Given the description of an element on the screen output the (x, y) to click on. 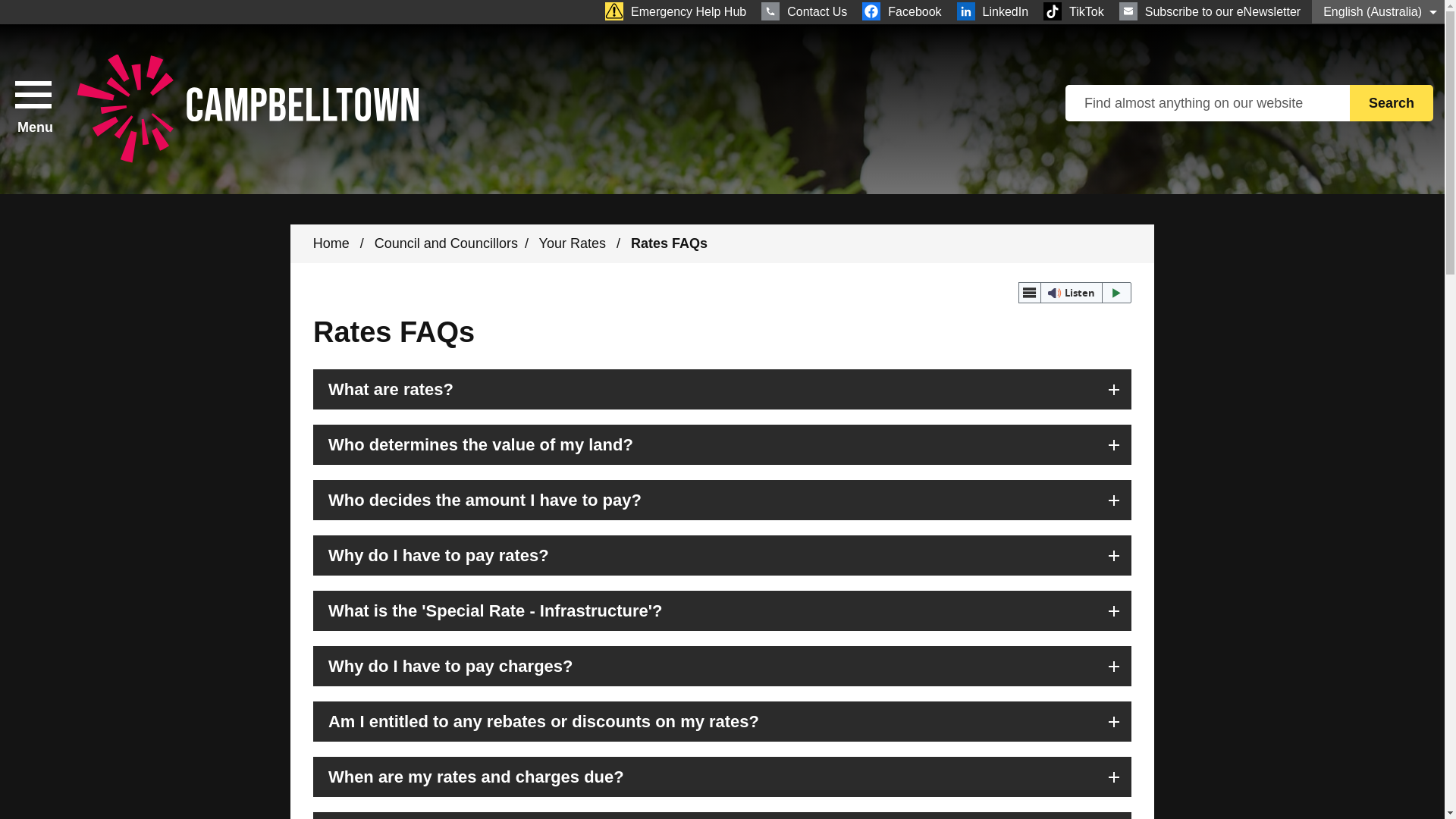
LinkedIn (992, 11)
Facebook (900, 11)
Emergency Help Hub (675, 11)
Listen to this page using ReadSpeaker (1074, 292)
Search (1390, 103)
Search (1390, 103)
Campbelltown City Council - Home - Logo (248, 108)
webReader menu (1029, 292)
Subscribe to our eNewsletter (1209, 11)
TikTok (1073, 11)
Search (1390, 103)
Contact Us (804, 11)
